Given the description of an element on the screen output the (x, y) to click on. 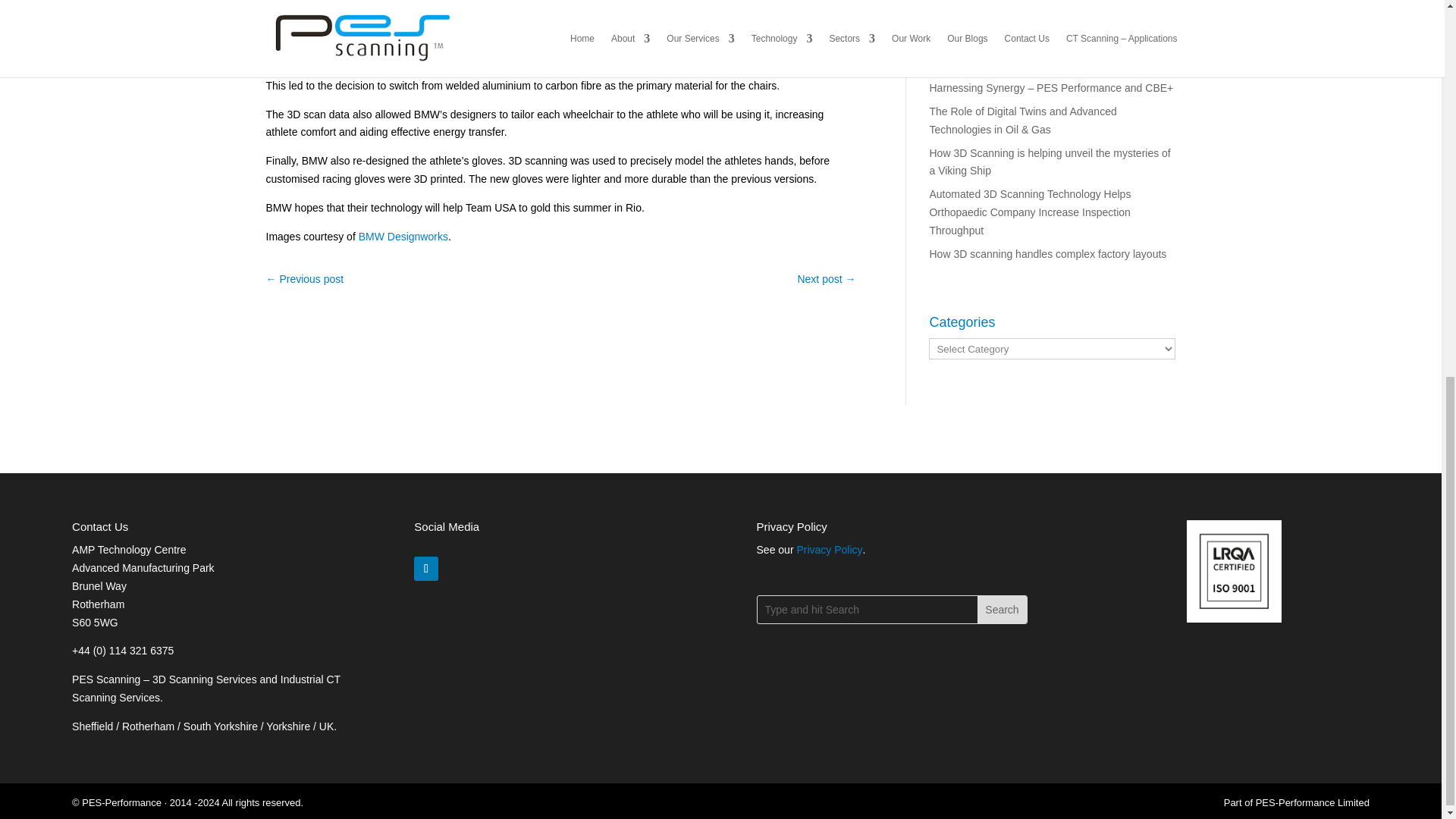
Follow on LinkedIn (425, 568)
Search (1001, 609)
Search (1001, 609)
